Given the description of an element on the screen output the (x, y) to click on. 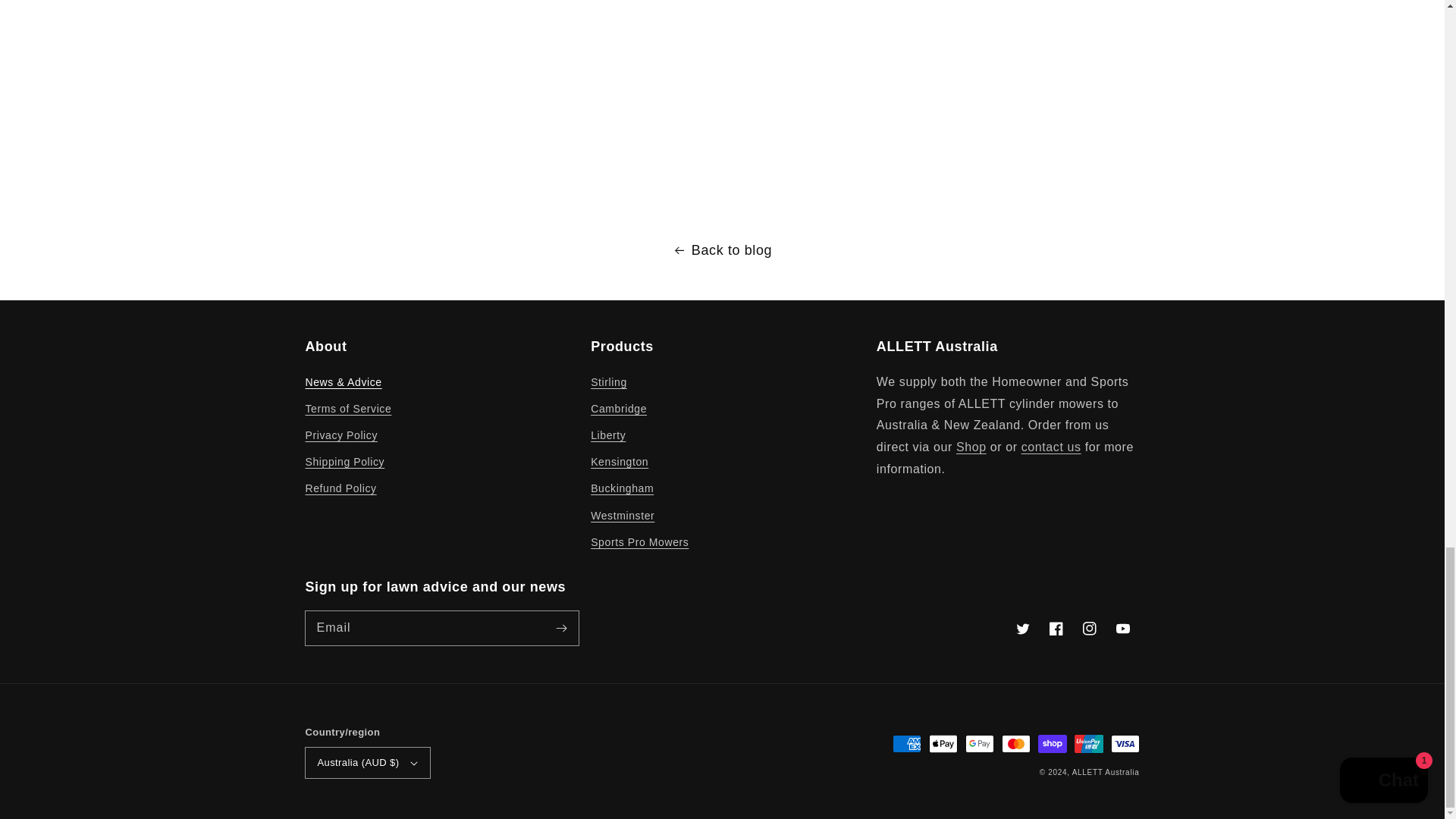
All products (971, 446)
Contact (1051, 446)
